Given the description of an element on the screen output the (x, y) to click on. 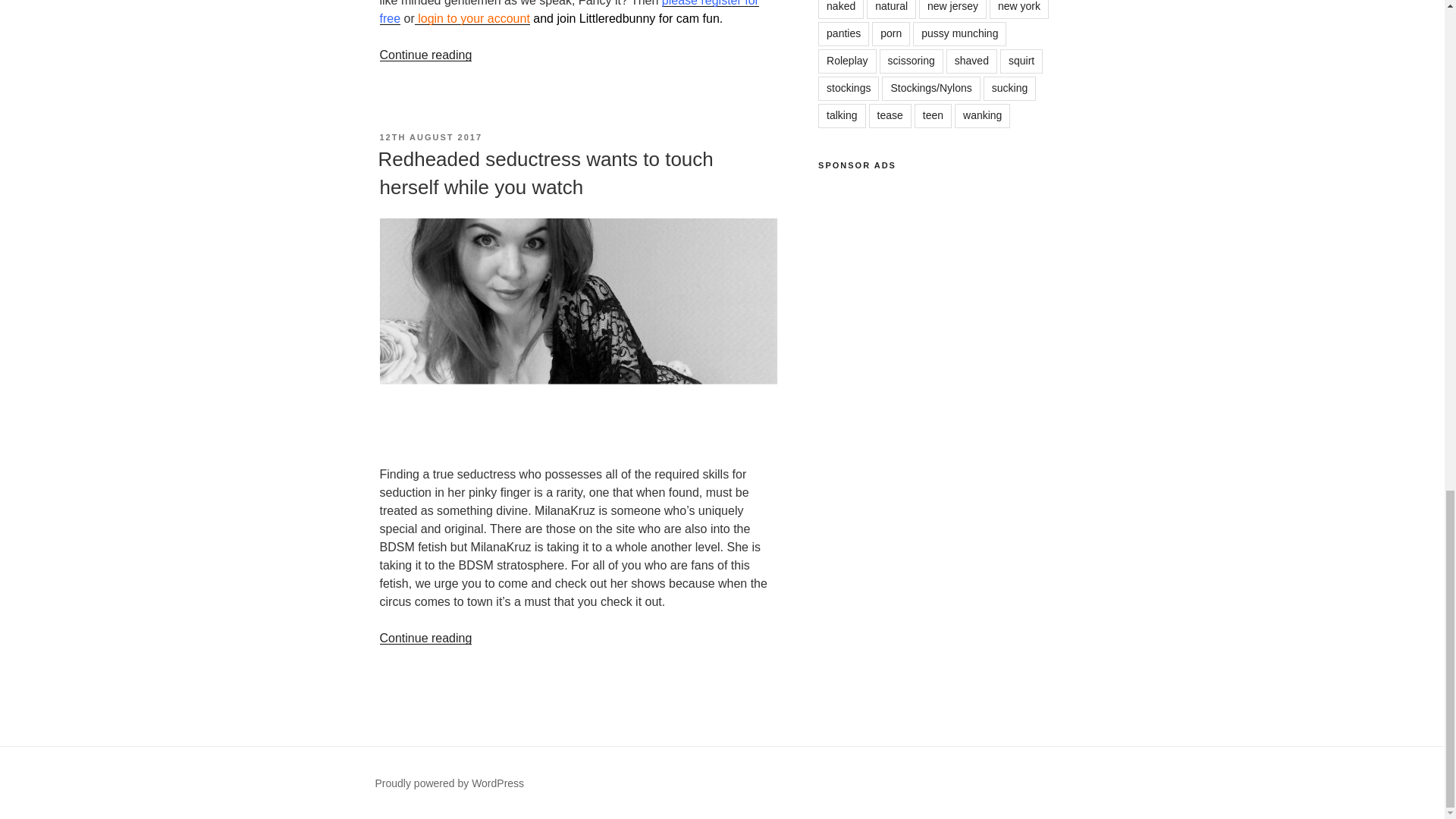
12TH AUGUST 2017 (429, 136)
login to your account (471, 18)
Redheaded seductress wants to touch herself while you watch (545, 173)
please register for free (568, 12)
